Given the description of an element on the screen output the (x, y) to click on. 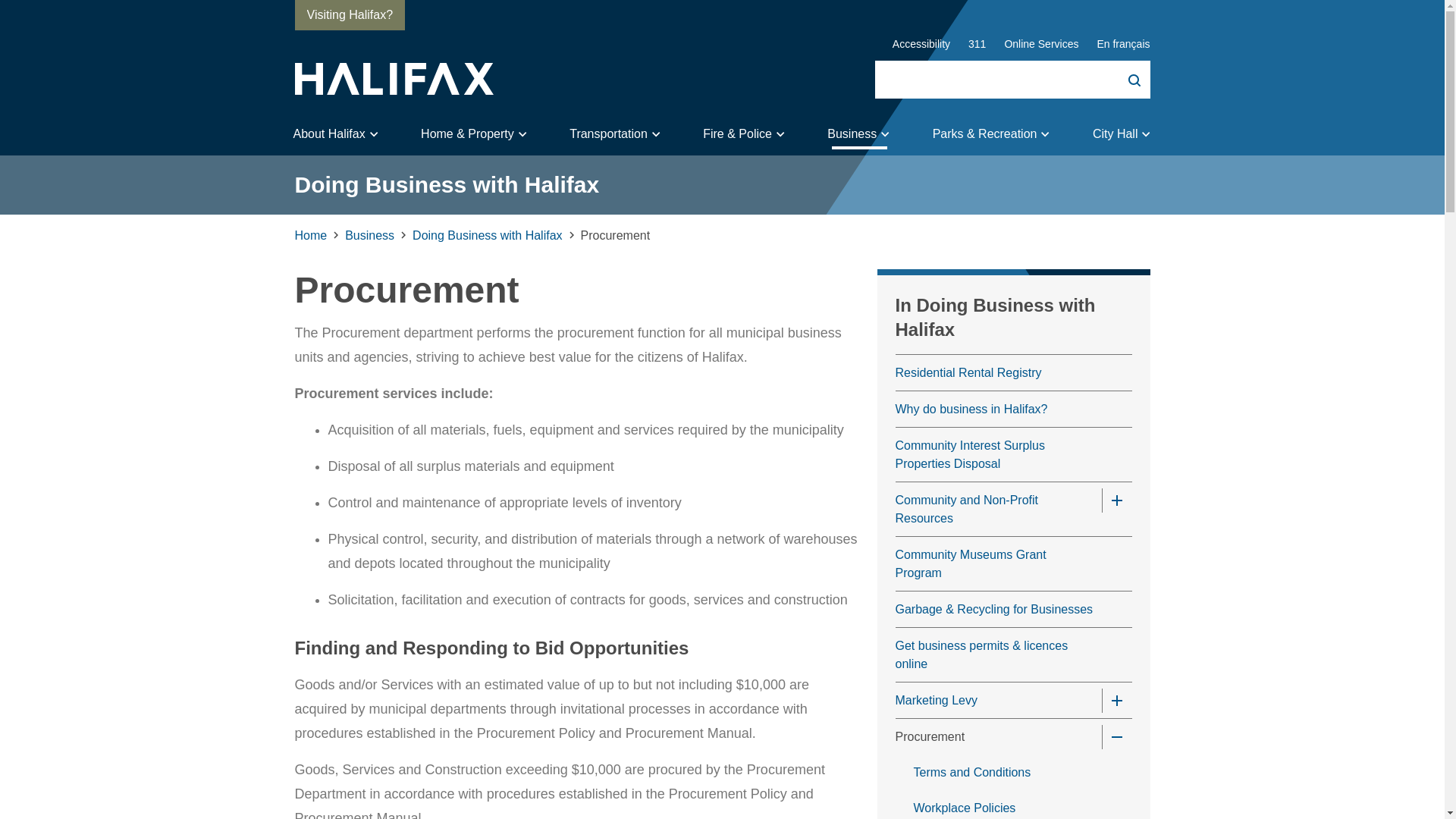
Enter the terms you wish to search for. (1012, 79)
About Halifax (335, 134)
Search (1123, 78)
Search (1123, 78)
Transportation (617, 134)
Back to home (393, 79)
Visiting Halifax? (349, 14)
